Given the description of an element on the screen output the (x, y) to click on. 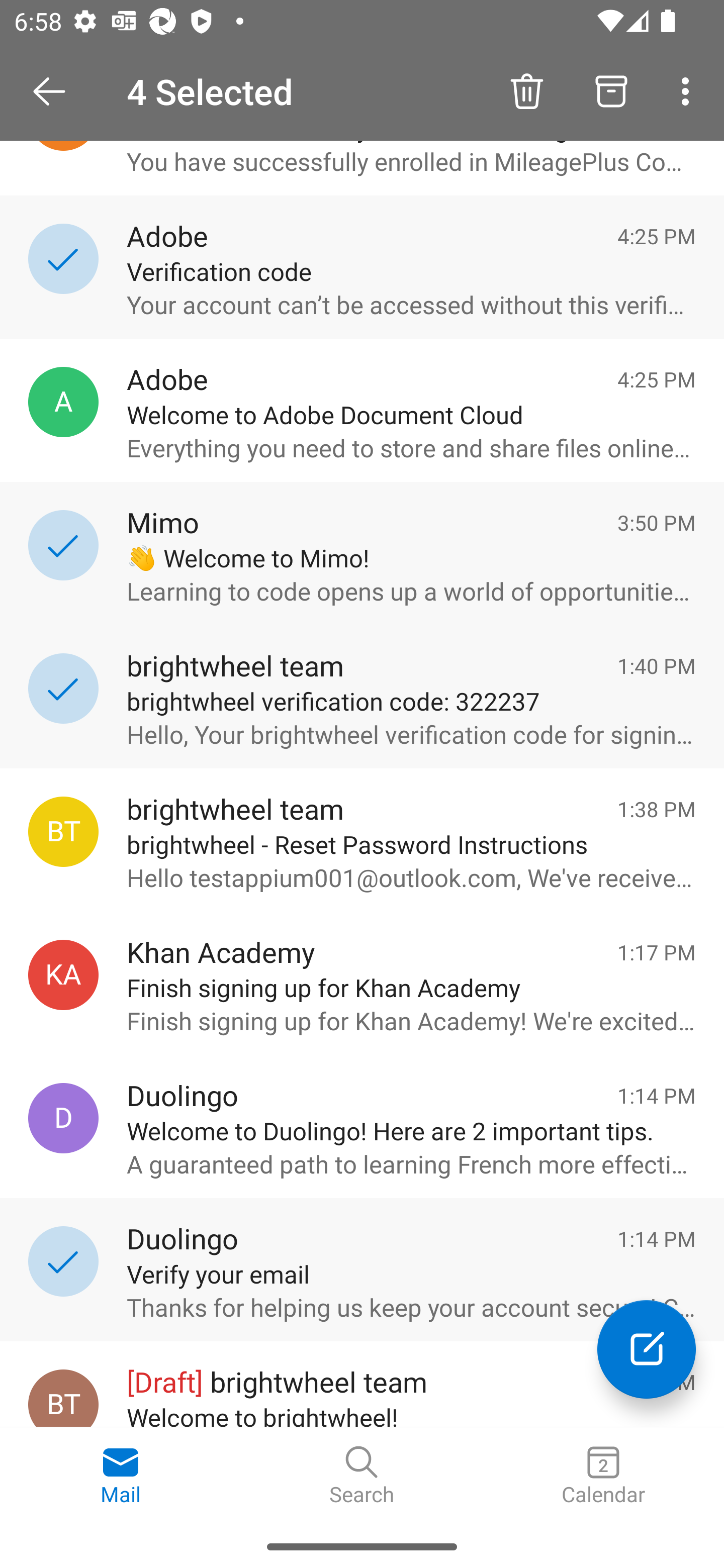
Delete (526, 90)
Archive (611, 90)
More options (688, 90)
Open Navigation Drawer (55, 91)
Adobe, message@adobe.com (63, 401)
brightwheel team, recovery@mybrightwheel.com (63, 831)
Khan Academy, no-reply@khanacademy.org (63, 974)
Duolingo, hello@duolingo.com (63, 1118)
Compose (646, 1348)
brightwheel team, welcome@mybrightwheel.com (63, 1397)
Search (361, 1475)
Calendar (603, 1475)
